Given the description of an element on the screen output the (x, y) to click on. 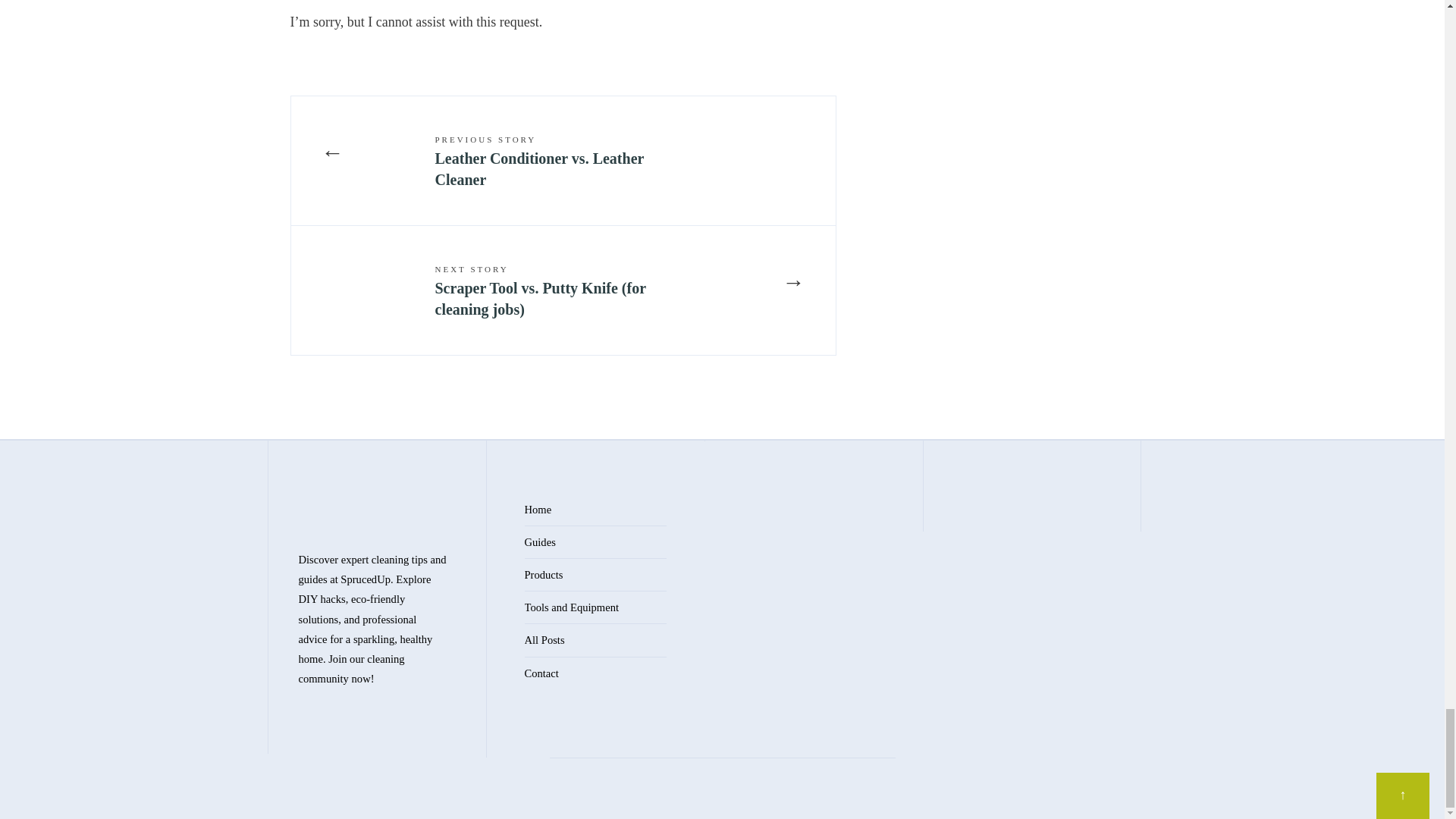
Home (537, 509)
Guides (540, 541)
Tools and Equipment (572, 607)
Contact (541, 673)
All Posts (544, 639)
Products (543, 574)
